Given the description of an element on the screen output the (x, y) to click on. 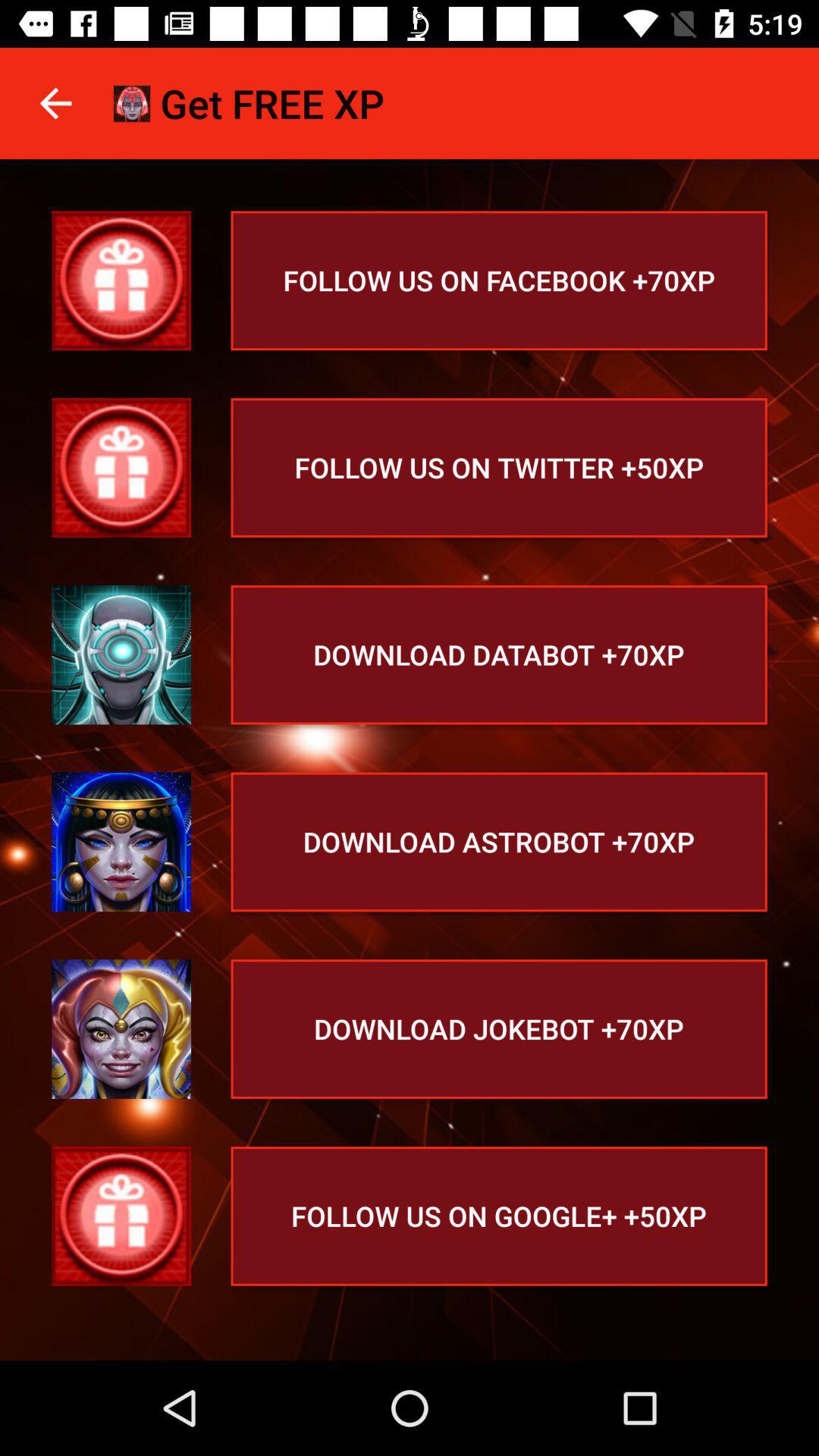
follow on facebook (121, 280)
